Given the description of an element on the screen output the (x, y) to click on. 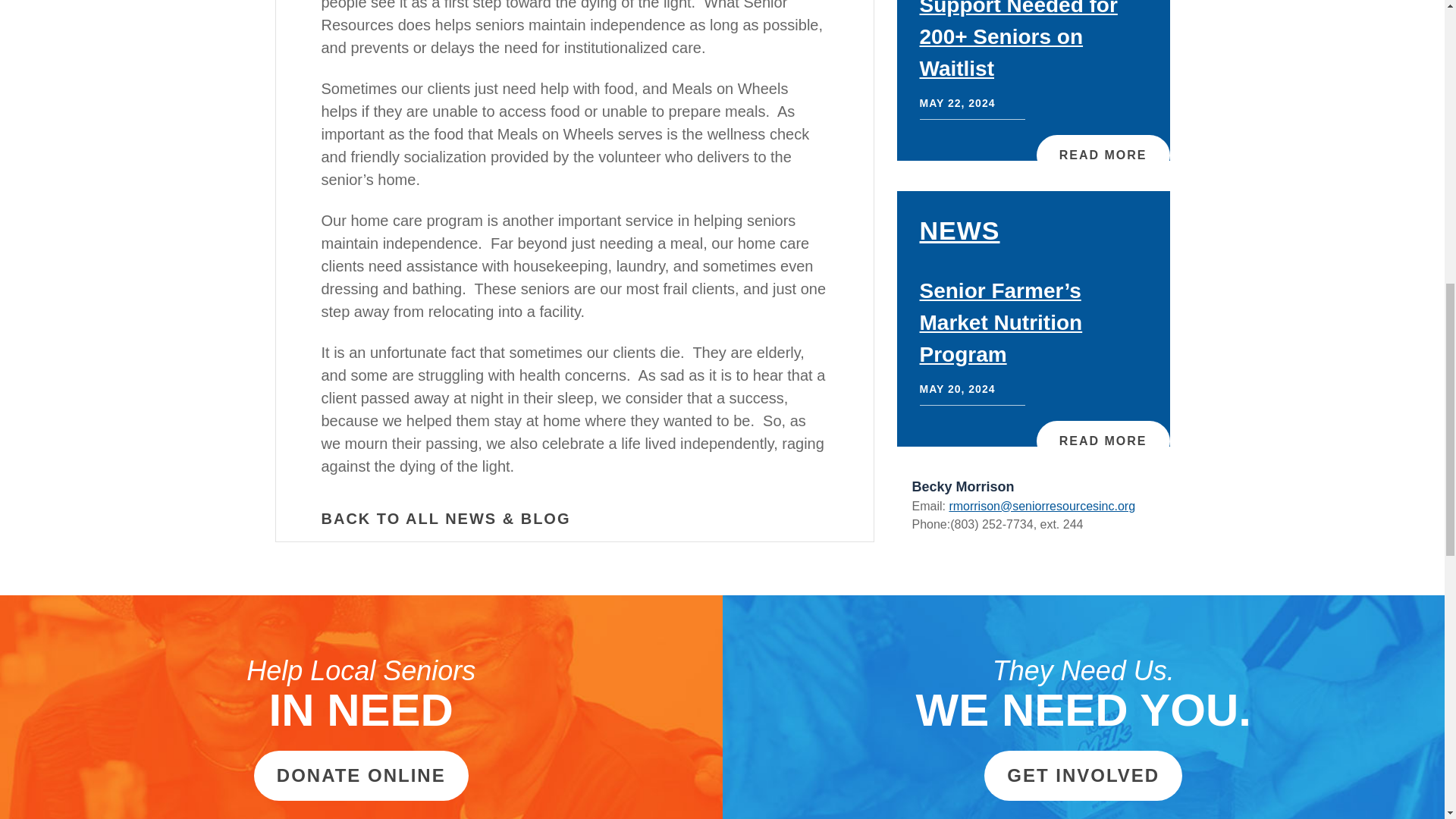
READ MORE (1103, 155)
NEWS (958, 230)
READ MORE (1103, 440)
